Given the description of an element on the screen output the (x, y) to click on. 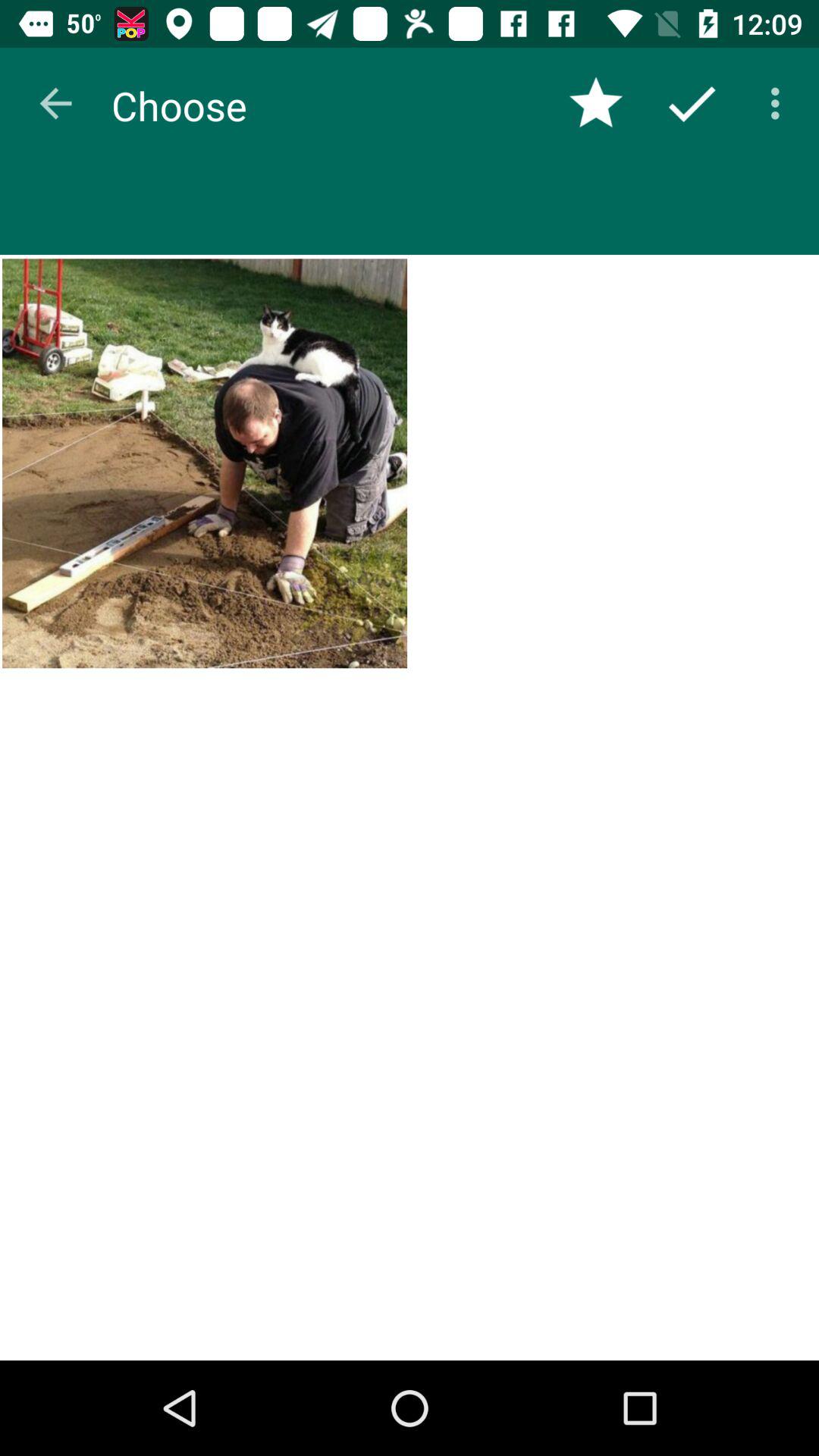
open the item to the left of the choose (55, 103)
